Given the description of an element on the screen output the (x, y) to click on. 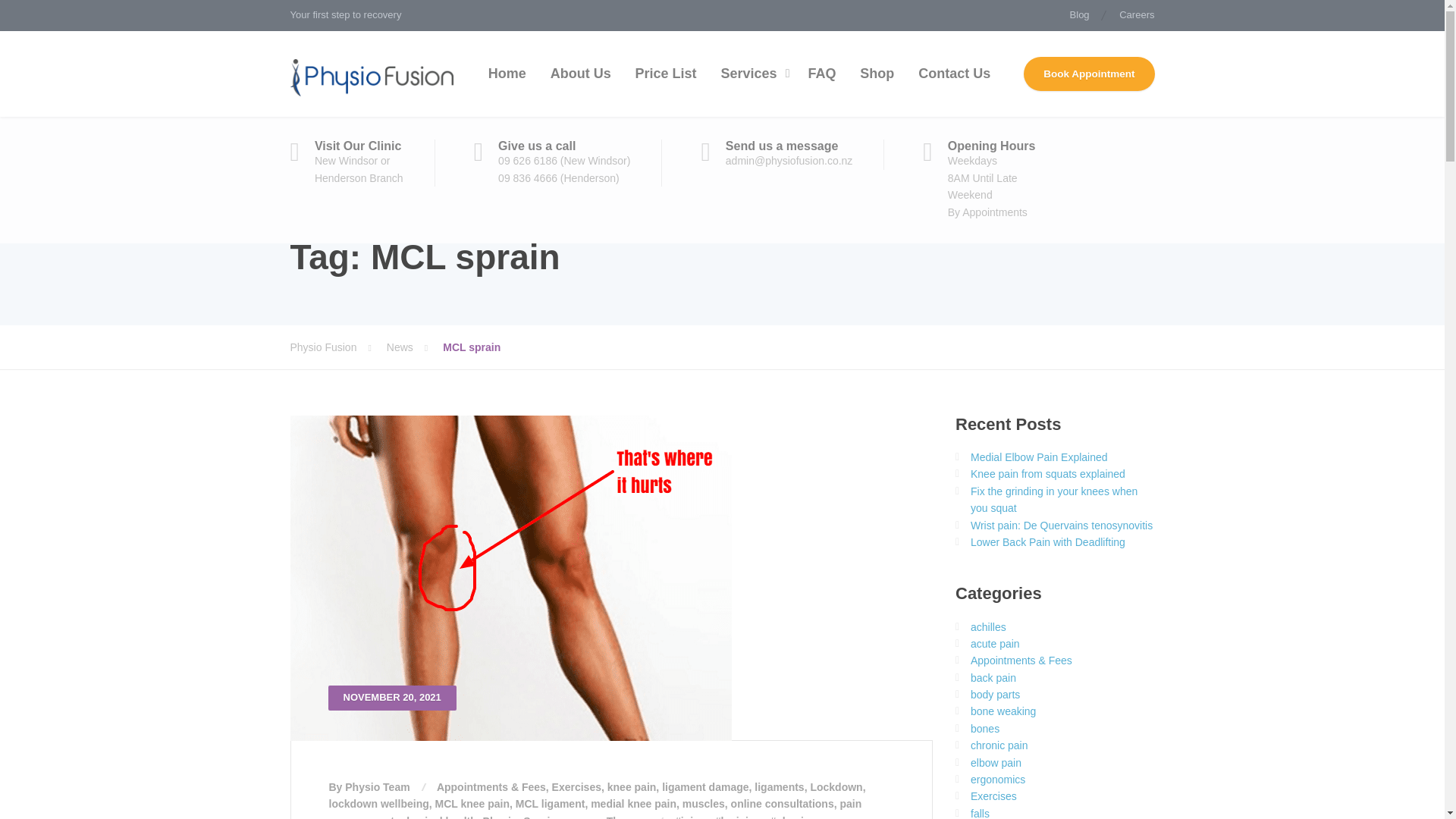
Exercises (576, 787)
News (414, 347)
Sprain (539, 816)
physical health (438, 816)
About Us (580, 74)
Go to Physio Fusion. (337, 347)
medial knee pain (634, 803)
surgery (580, 816)
Careers (1130, 15)
A job with perfect work life balance! (1130, 15)
Lockdown (835, 787)
Physio Fusion (337, 347)
Services (751, 74)
ligaments (778, 787)
